Given the description of an element on the screen output the (x, y) to click on. 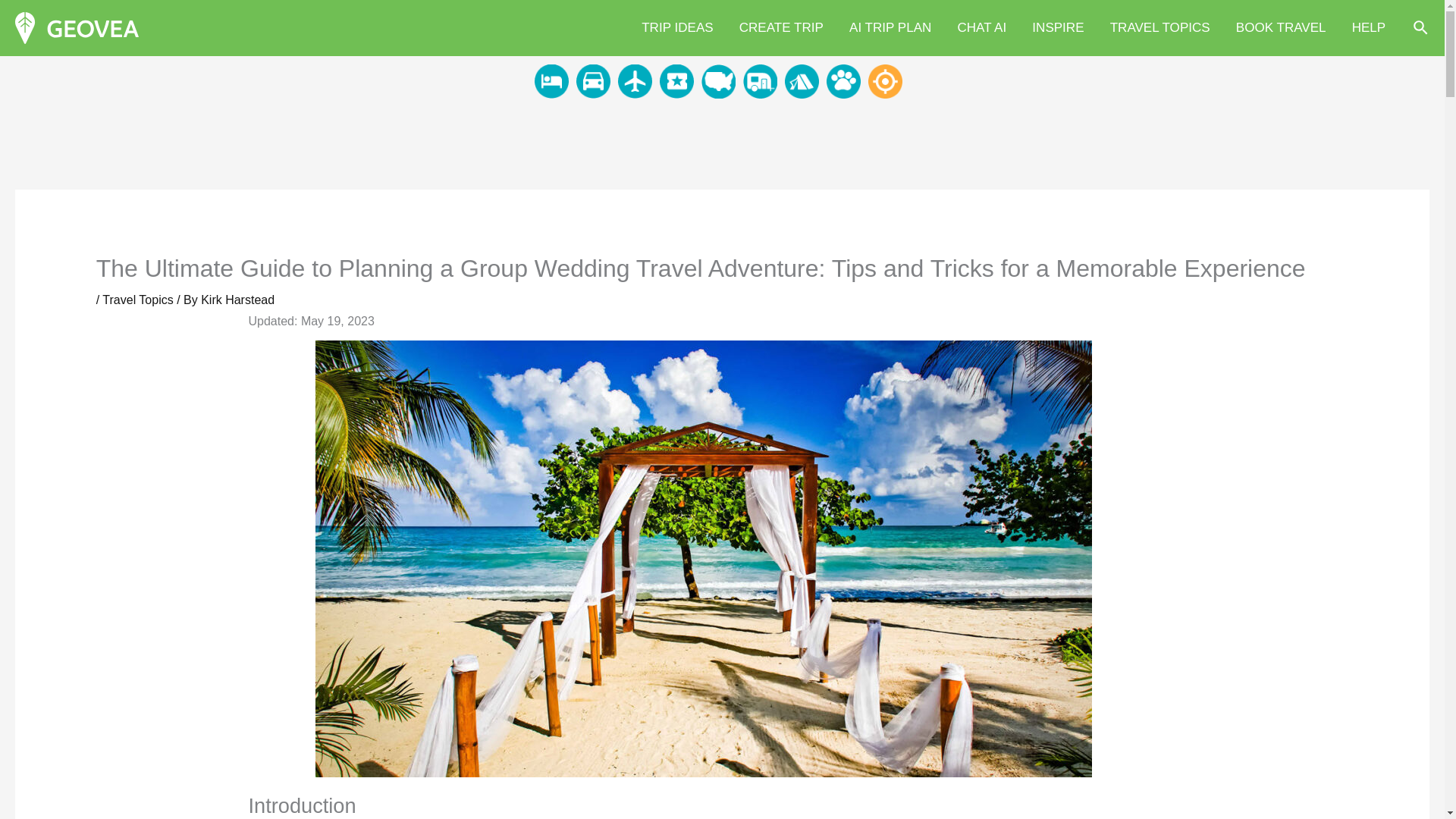
CREATE TRIP (780, 27)
AI TRIP PLAN (889, 27)
BOOK TRAVEL (1281, 27)
CHAT AI (981, 27)
Travel Topics (137, 299)
INSPIRE (1057, 27)
HELP (1369, 27)
TRAVEL TOPICS (1160, 27)
TRIP IDEAS (677, 27)
View all posts by Kirk Harstead (237, 299)
